Given the description of an element on the screen output the (x, y) to click on. 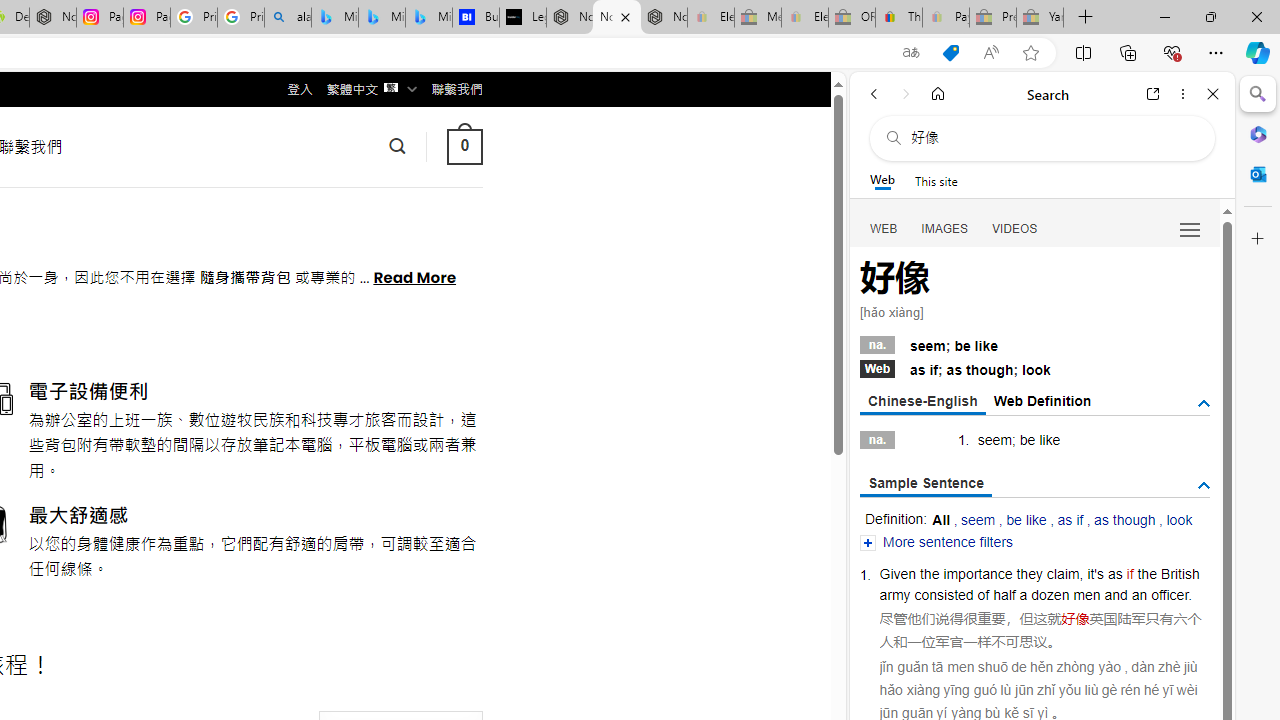
Show translate options (910, 53)
as (1114, 573)
though (989, 370)
British (1179, 573)
Threats and offensive language policy | eBay (898, 17)
Yard, Garden & Outdoor Living - Sleeping (1040, 17)
